Given the description of an element on the screen output the (x, y) to click on. 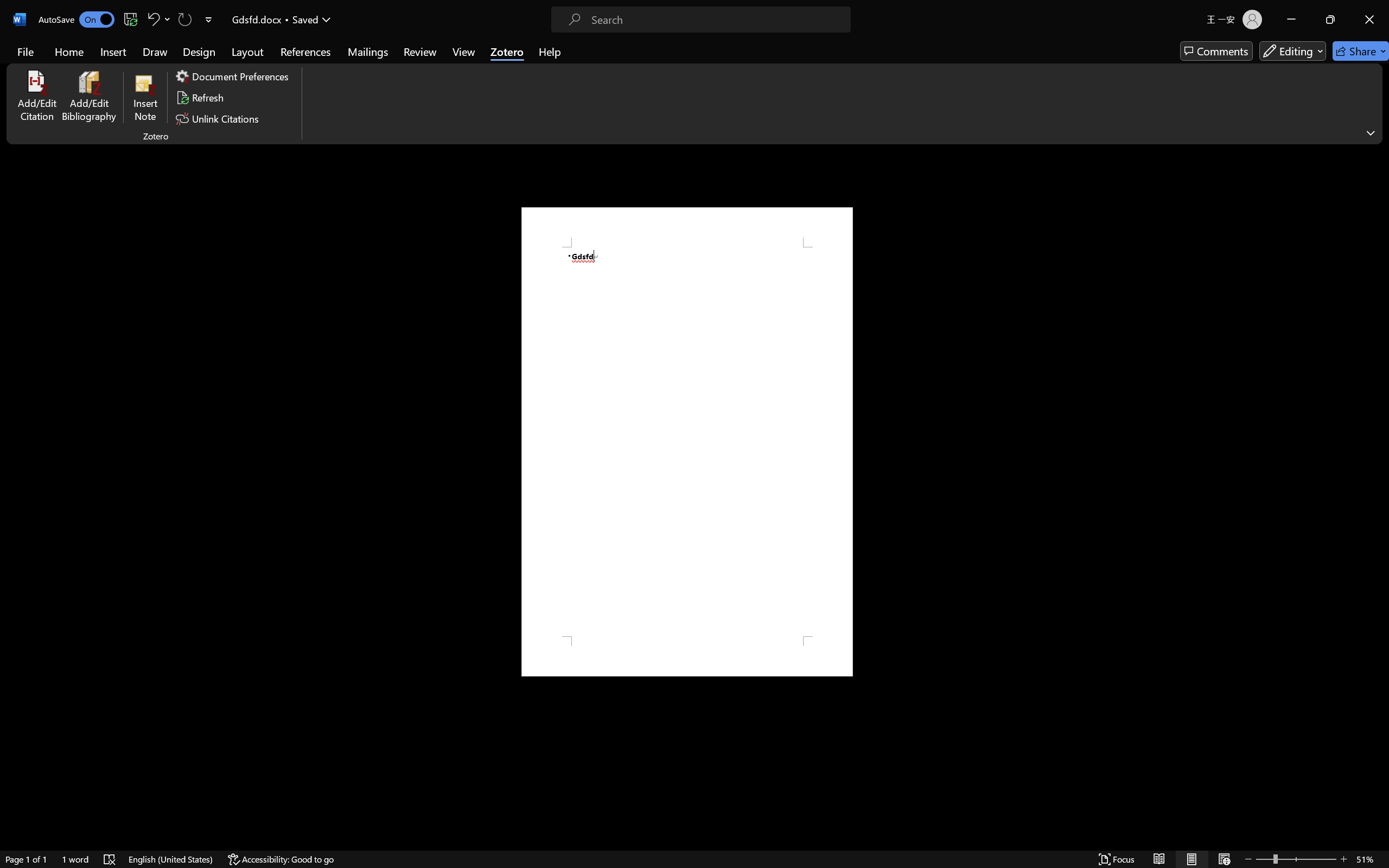
400% (1274, 855)
OK (664, 403)
Cameo (676, 477)
Line up (49, 51)
Subtitle TextBox (1361, 102)
100% (675, 613)
Camera 9, No camera detected. (664, 426)
Microsoft Store (386, 652)
Reset to Cameo (276, 855)
Visual Studio Code - 1 running window (257, 62)
Page down (329, 855)
